Given the description of an element on the screen output the (x, y) to click on. 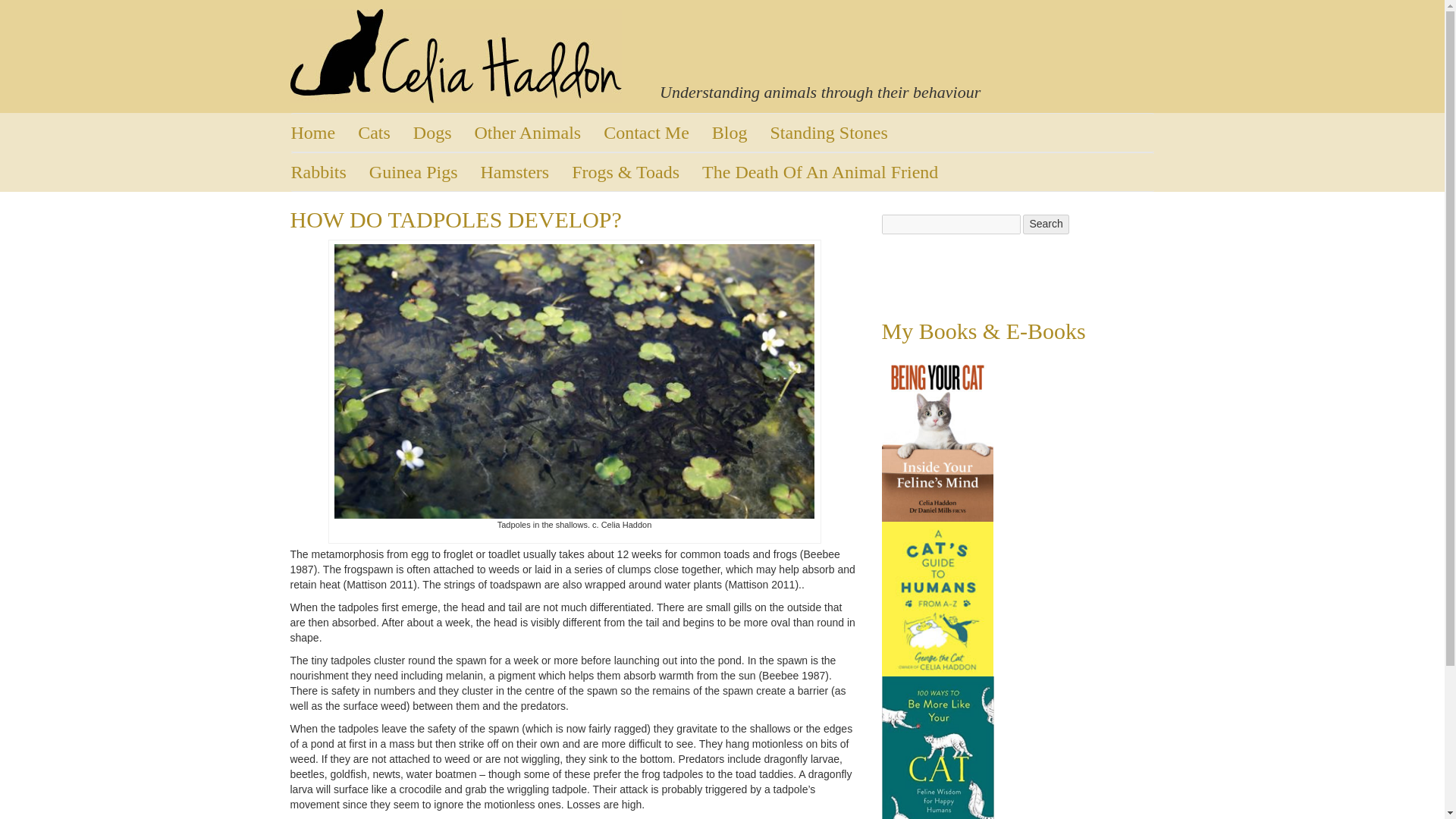
Guinea Pigs (424, 171)
Hamsters (526, 171)
Blog (740, 132)
Other Animals (539, 132)
Contact Me (657, 132)
Search (1045, 224)
Contact Me (657, 132)
Rabbits (330, 171)
Blog (740, 132)
Cats (385, 132)
